Given the description of an element on the screen output the (x, y) to click on. 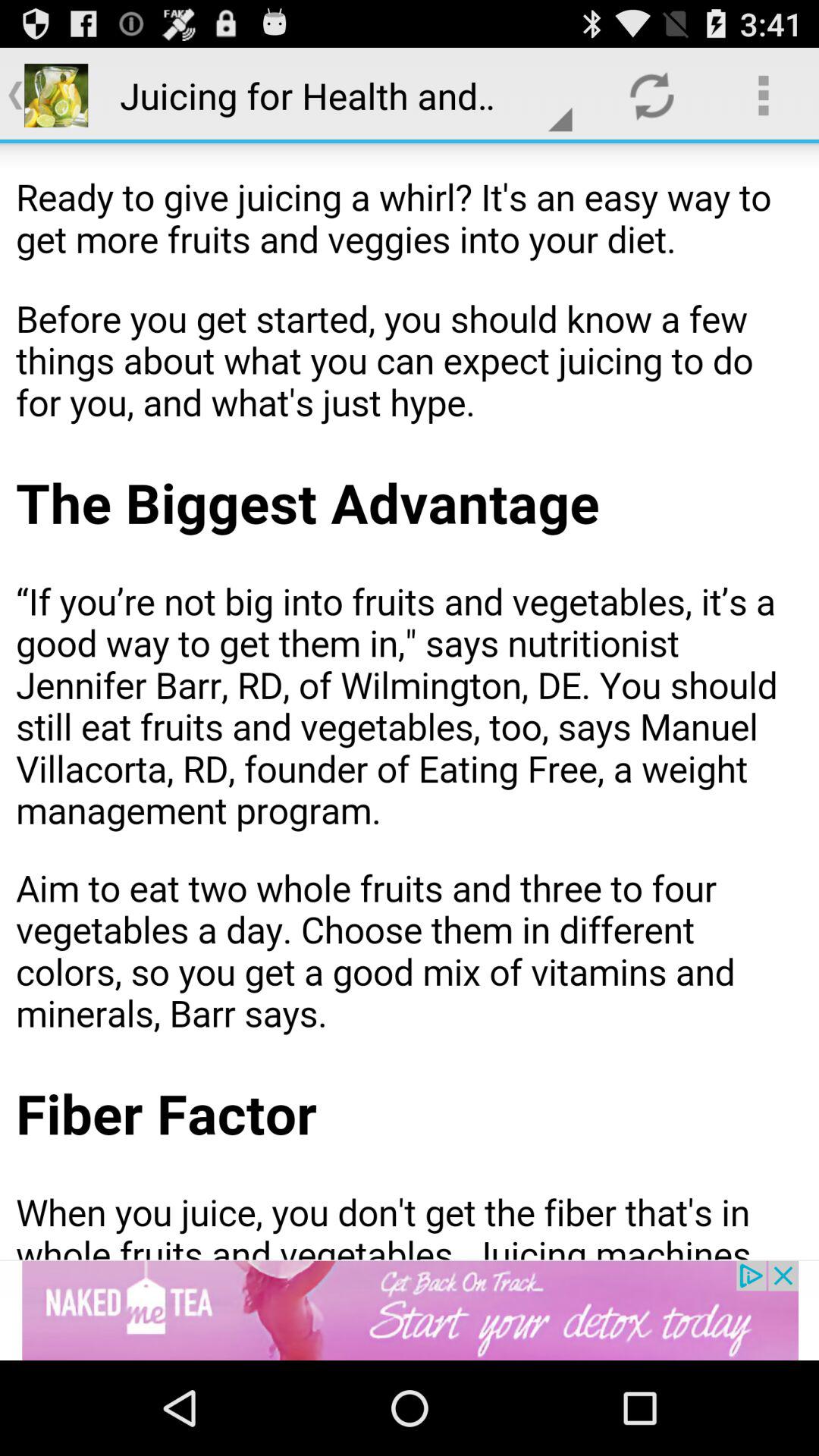
open advertisement (409, 1310)
